Given the description of an element on the screen output the (x, y) to click on. 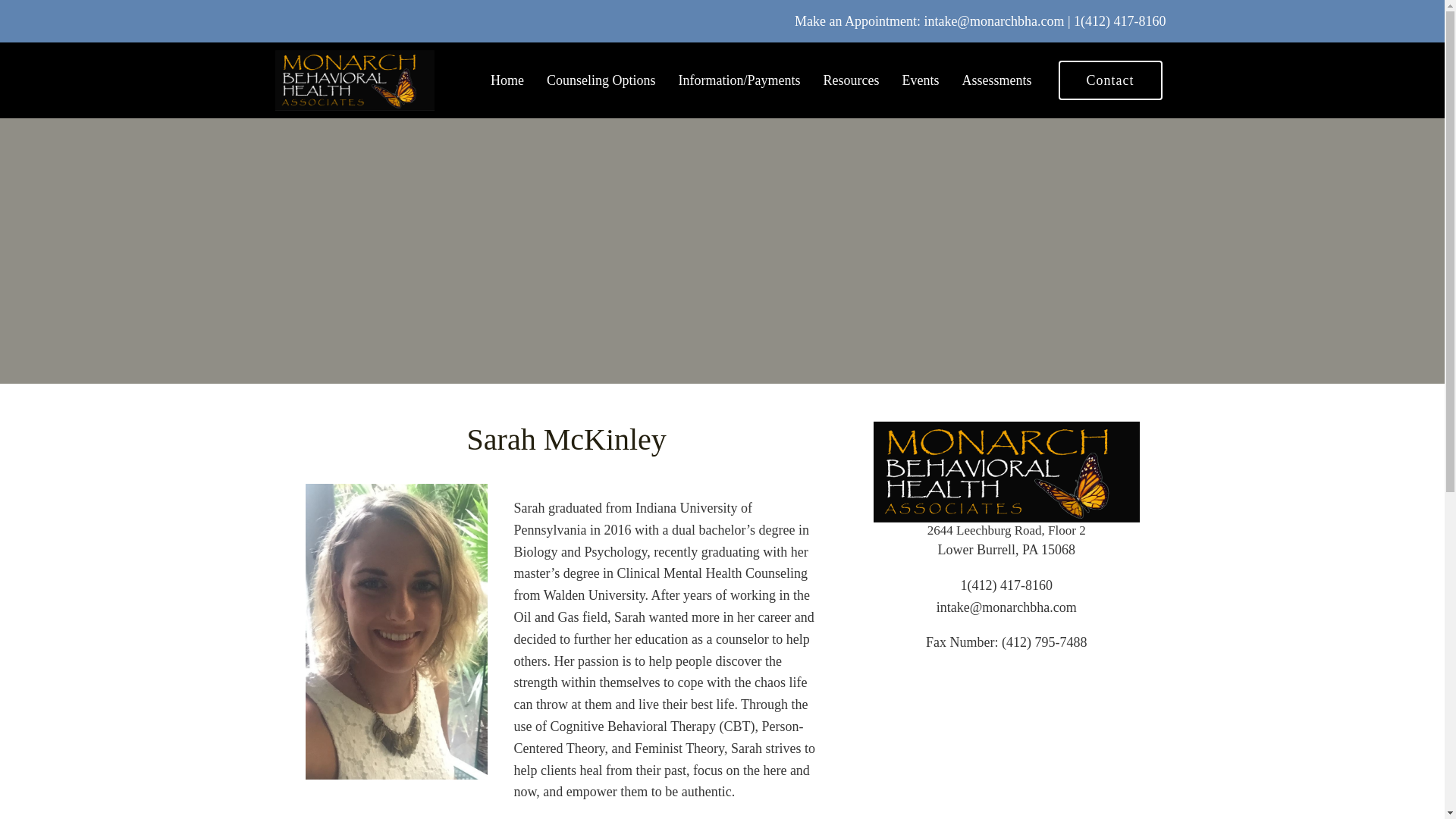
Home (507, 80)
Assessments (995, 80)
Counseling Options (601, 80)
Resources (851, 80)
Contact (1109, 79)
Events (920, 80)
